Given the description of an element on the screen output the (x, y) to click on. 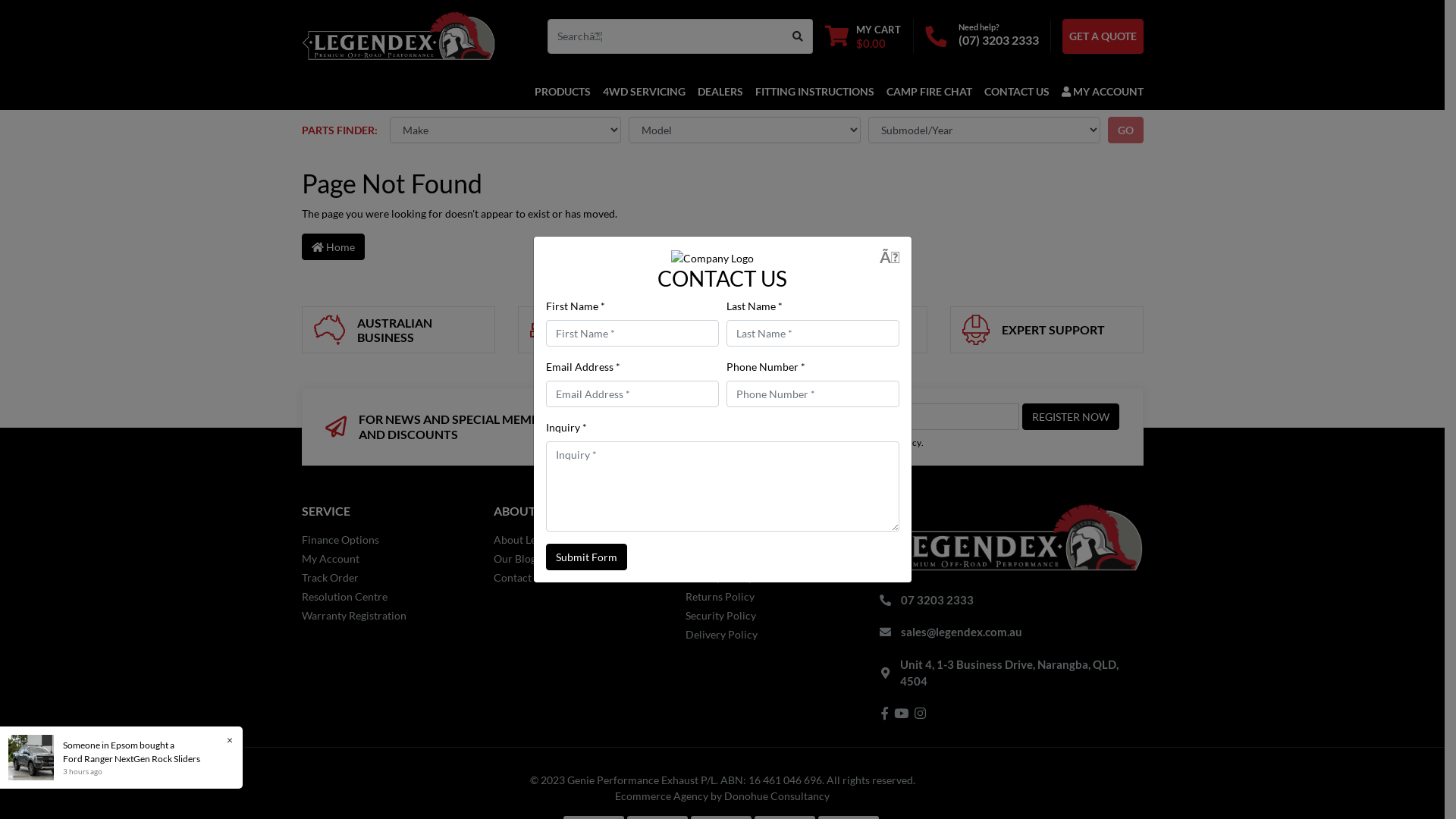
GO Element type: text (1125, 129)
(07) 3203 2333 Element type: text (998, 39)
Privacy Policy Element type: text (769, 576)
Terms of Use Element type: text (769, 558)
Privacy Policy Element type: text (893, 442)
PRODUCTS Element type: text (564, 90)
Delivery Policy Element type: text (769, 633)
4WD SERVICING Element type: text (643, 90)
Track Order Element type: text (385, 576)
Genie Performance Exhaust P/L Element type: hover (398, 34)
Resolution Centre Element type: text (385, 595)
About Legendex Element type: text (577, 539)
GET A QUOTE Element type: text (1101, 35)
DEALERS Element type: text (720, 90)
MY CART
$0.00 Element type: text (861, 35)
Submit Form Element type: text (586, 556)
CAMP FIRE CHAT Element type: text (928, 90)
Facebook Element type: text (884, 713)
Contact Us Element type: text (577, 576)
CONTACT US Element type: text (1016, 90)
Security Policy Element type: text (769, 614)
Ecommerce Agency Element type: text (661, 795)
Search Element type: text (797, 35)
07 3203 2333 Element type: text (936, 599)
Home Element type: text (332, 246)
Our Blog Element type: text (577, 558)
Youtube Element type: text (900, 713)
REGISTER NOW Element type: text (1070, 416)
My Account Element type: text (385, 558)
Company Logo Element type: hover (712, 258)
Terms & Conditions Element type: text (814, 442)
Finance Options Element type: text (385, 539)
FITTING INSTRUCTIONS Element type: text (814, 90)
MY ACCOUNT Element type: text (1099, 90)
COVID -19 Element type: text (769, 539)
sales@legendex.com.au Element type: text (961, 631)
Returns Policy Element type: text (769, 595)
Warranty Registration Element type: text (385, 614)
Instagram Element type: text (919, 713)
